Given the description of an element on the screen output the (x, y) to click on. 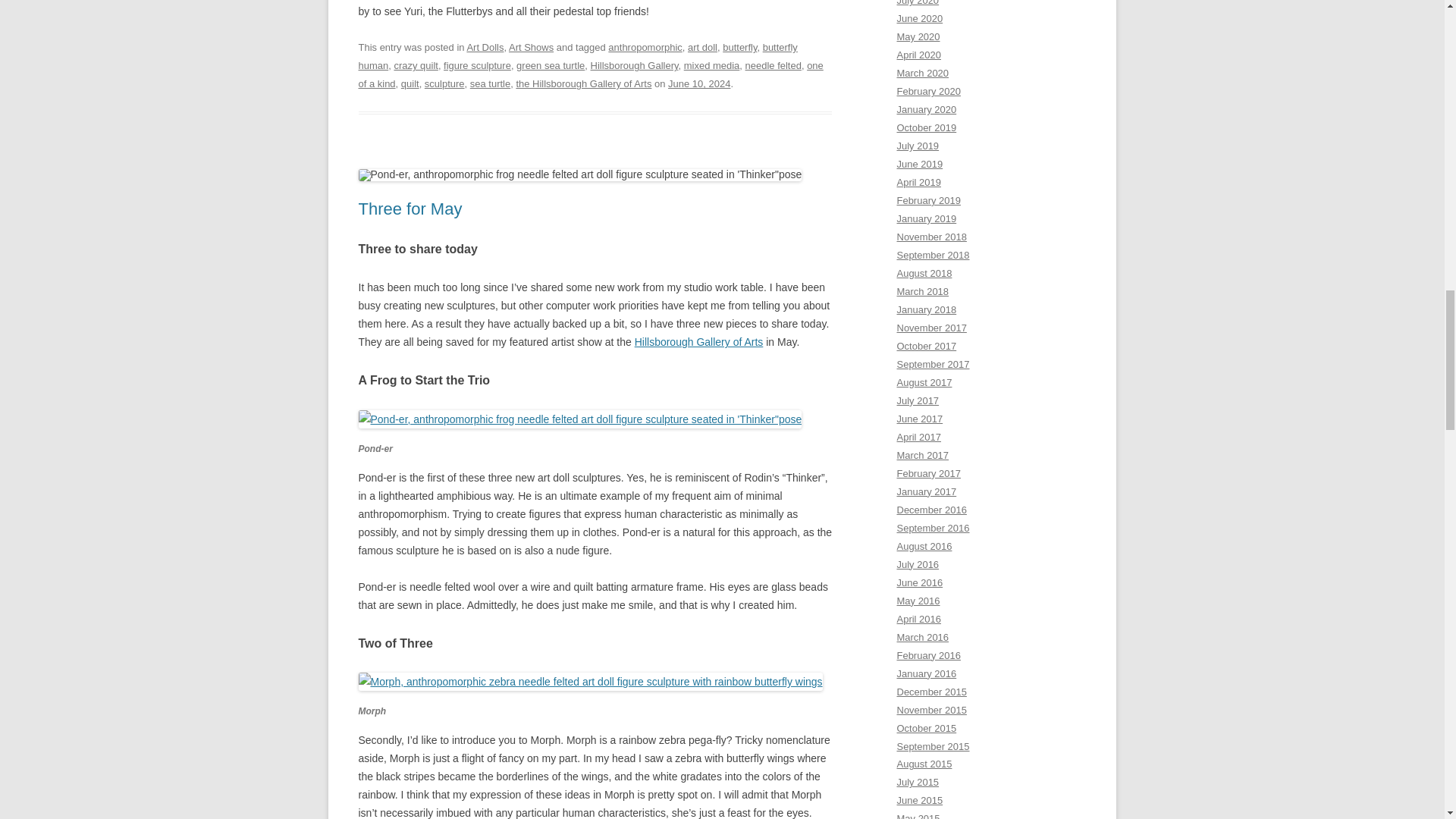
quilt (410, 83)
butterfly (739, 47)
mixed media (711, 65)
the Hillsborough Gallery of Arts (582, 83)
June 10, 2024 (699, 83)
art doll (702, 47)
sea turtle (490, 83)
figure sculpture (477, 65)
Art Dolls (484, 47)
butterfly human (577, 56)
Three for May (409, 208)
Hillsborough Gallery of Arts (698, 341)
3:53 pm (699, 83)
one of a kind (590, 74)
needle felted (773, 65)
